Given the description of an element on the screen output the (x, y) to click on. 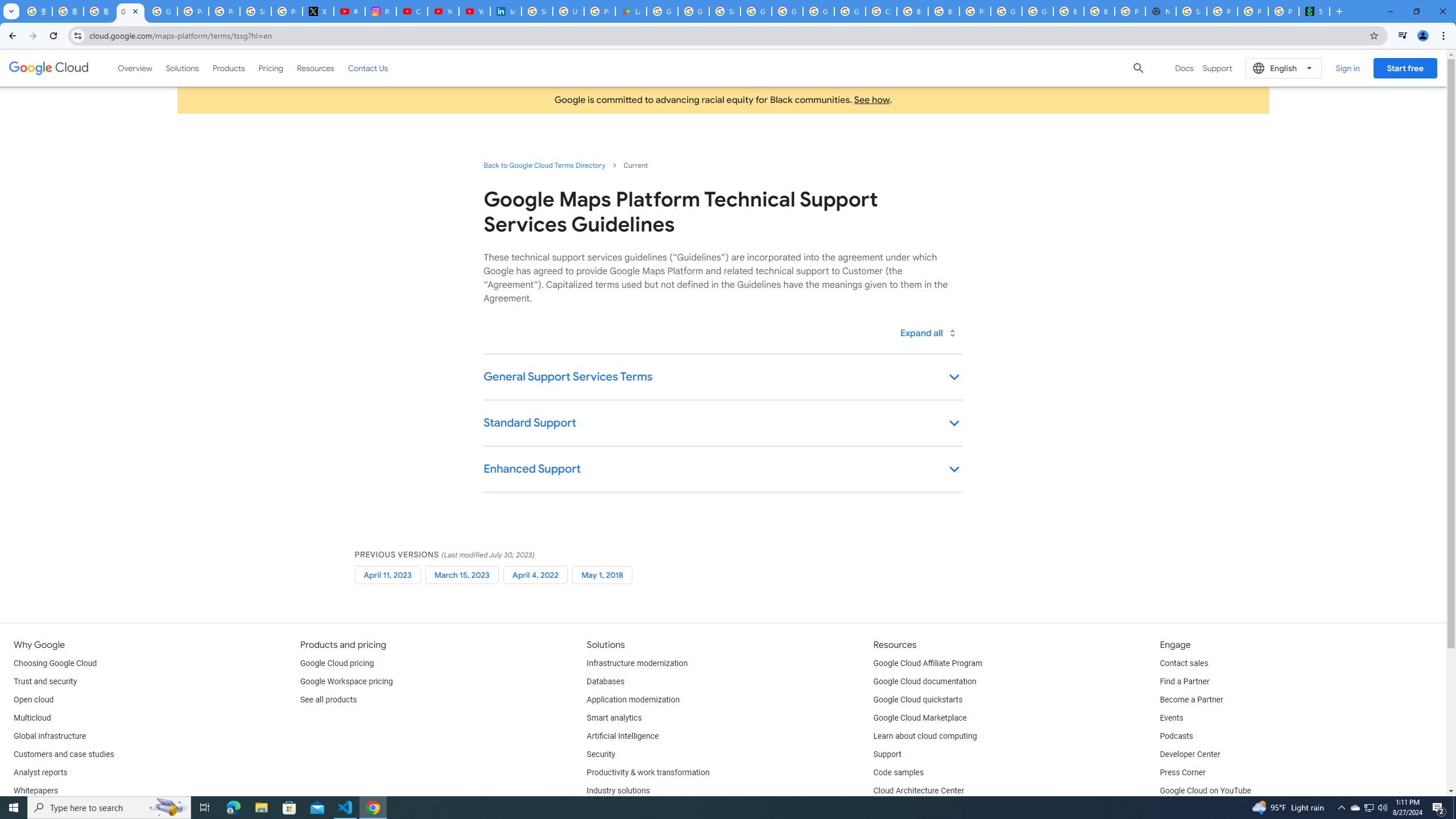
Customers and case studies (64, 754)
Cloud Architecture Center (918, 791)
Contact sales (1183, 663)
Google Cloud Platform (818, 11)
Analyst reports (39, 773)
Trust and security (45, 682)
April 4, 2022 (534, 574)
Browse Chrome as a guest - Computer - Google Chrome Help (943, 11)
